Given the description of an element on the screen output the (x, y) to click on. 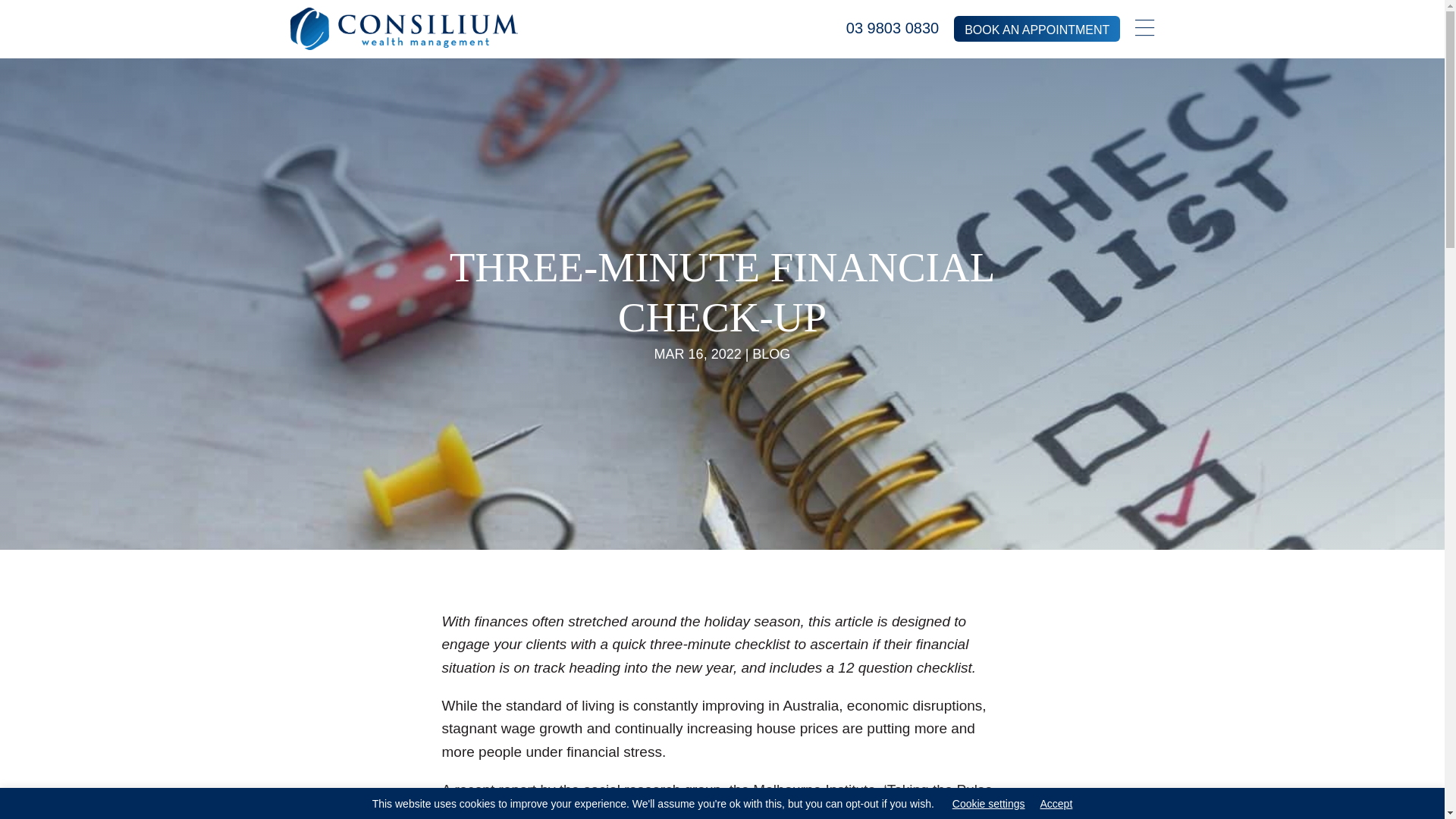
Consilium-logo-800 (402, 28)
uabb-menu-toggle (1144, 28)
BOOK AN APPOINTMENT (1036, 28)
Cookie settings (988, 803)
Accept (1057, 803)
03 9803 0830 (892, 27)
